Given the description of an element on the screen output the (x, y) to click on. 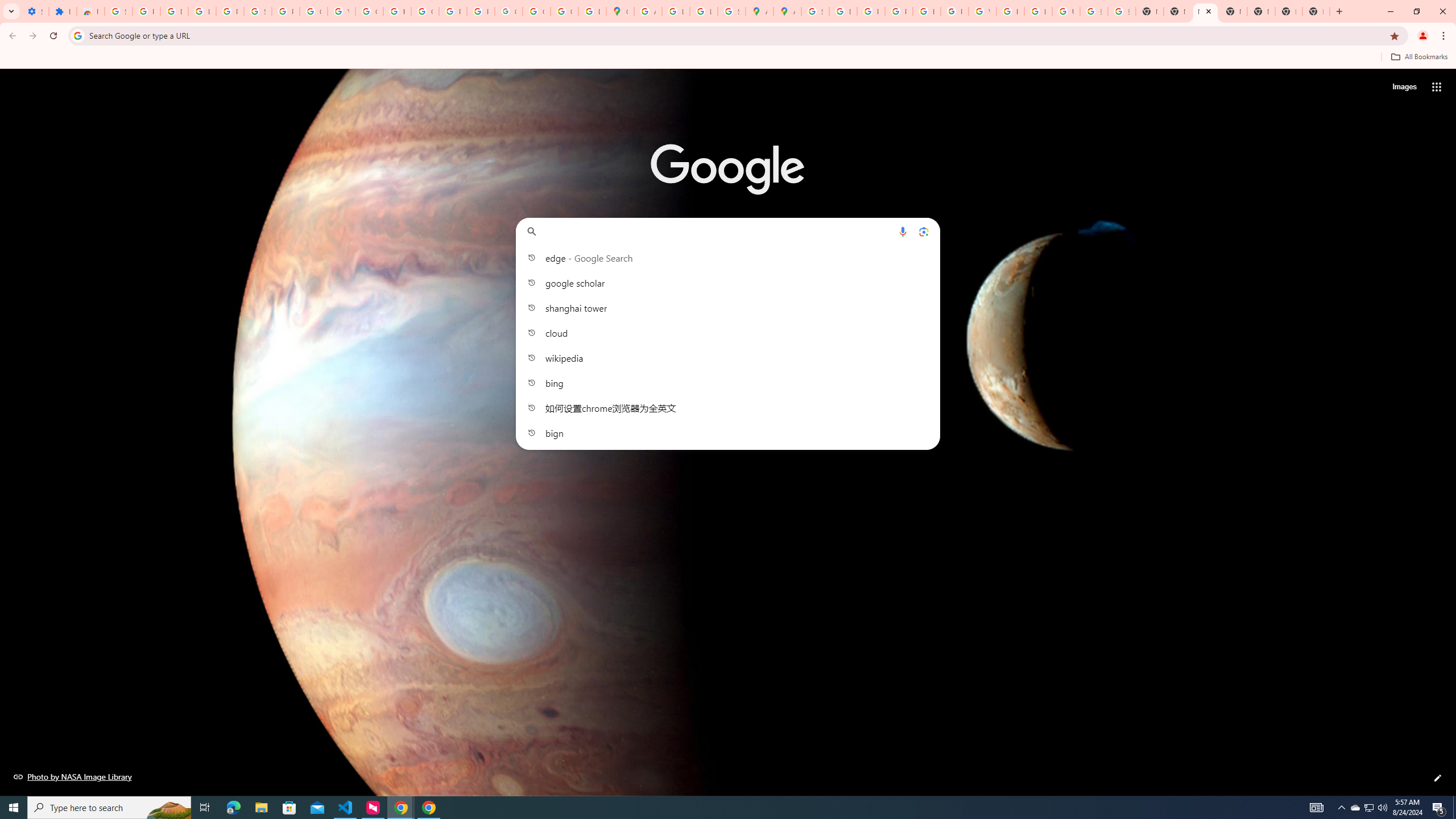
Reviews: Helix Fruit Jump Arcade Game (90, 11)
New Tab (1233, 11)
Delete photos & videos - Computer - Google Photos Help (174, 11)
Google Account (313, 11)
Bookmarks (728, 58)
Customize this page (1437, 778)
